Given the description of an element on the screen output the (x, y) to click on. 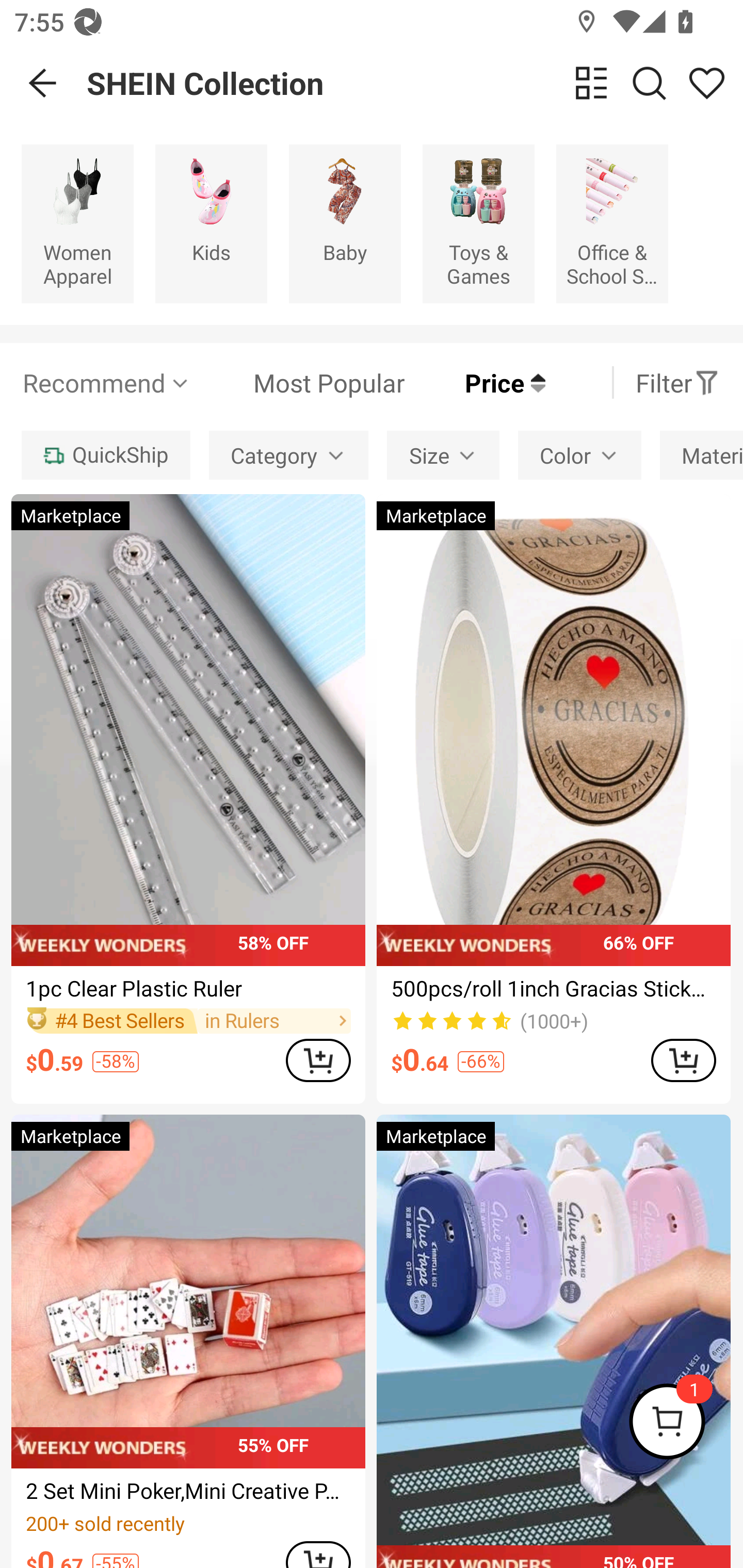
SHEIN Collection change view Search Share (414, 82)
change view (591, 82)
Search (648, 82)
Share (706, 82)
Women Apparel (77, 223)
Kids (211, 223)
Baby (345, 223)
Toys & Games (478, 223)
Office & School Supplies (611, 223)
Recommend (106, 382)
Most Popular (297, 382)
Price (474, 382)
Filter (677, 382)
QuickShip (105, 455)
Category (288, 455)
Size (443, 455)
Color (579, 455)
Material (701, 455)
#4 Best Sellers in Rulers (188, 1020)
ADD TO CART (318, 1059)
ADD TO CART (683, 1059)
